Given the description of an element on the screen output the (x, y) to click on. 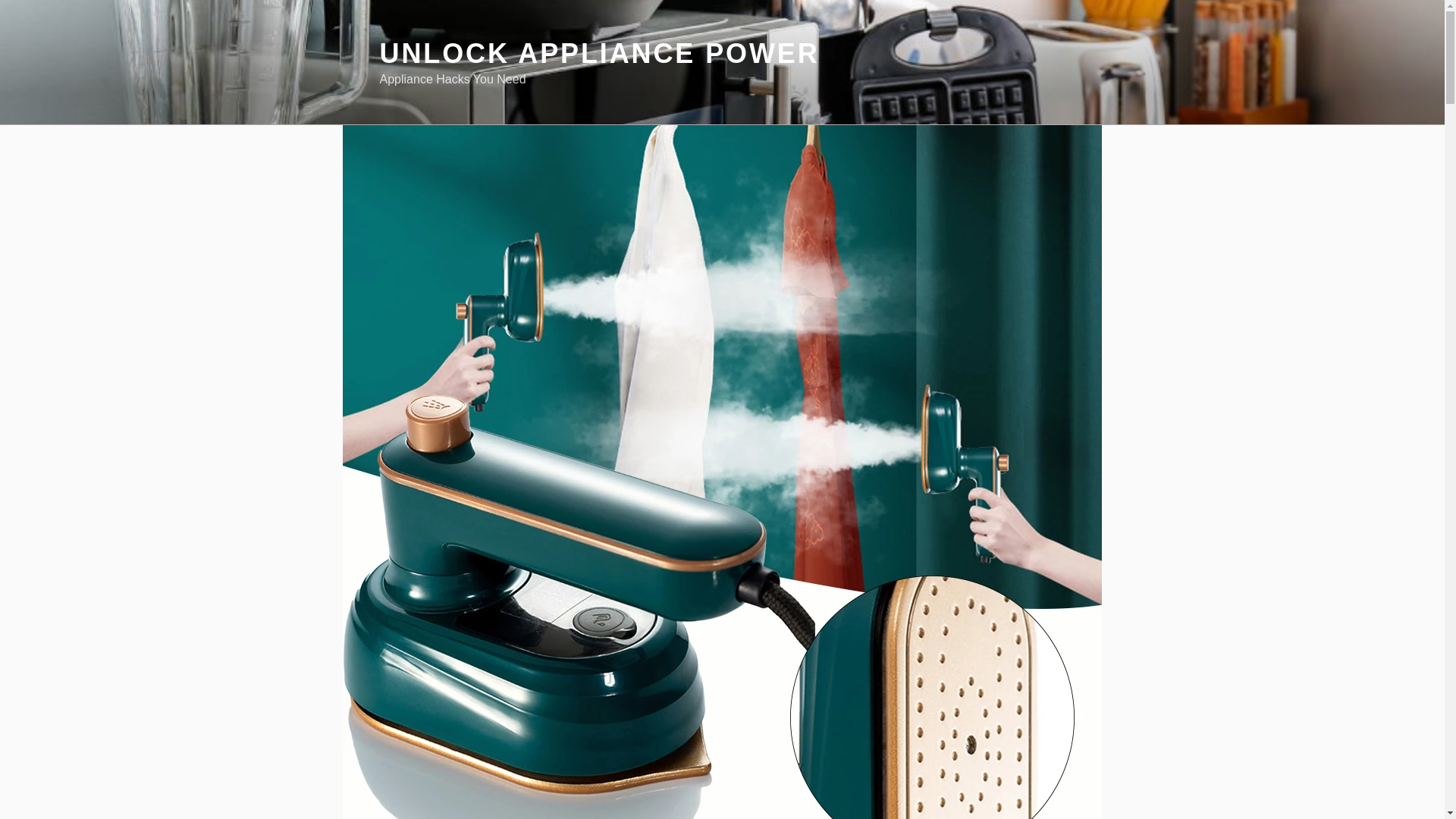
UNLOCK APPLIANCE POWER (598, 52)
